Given the description of an element on the screen output the (x, y) to click on. 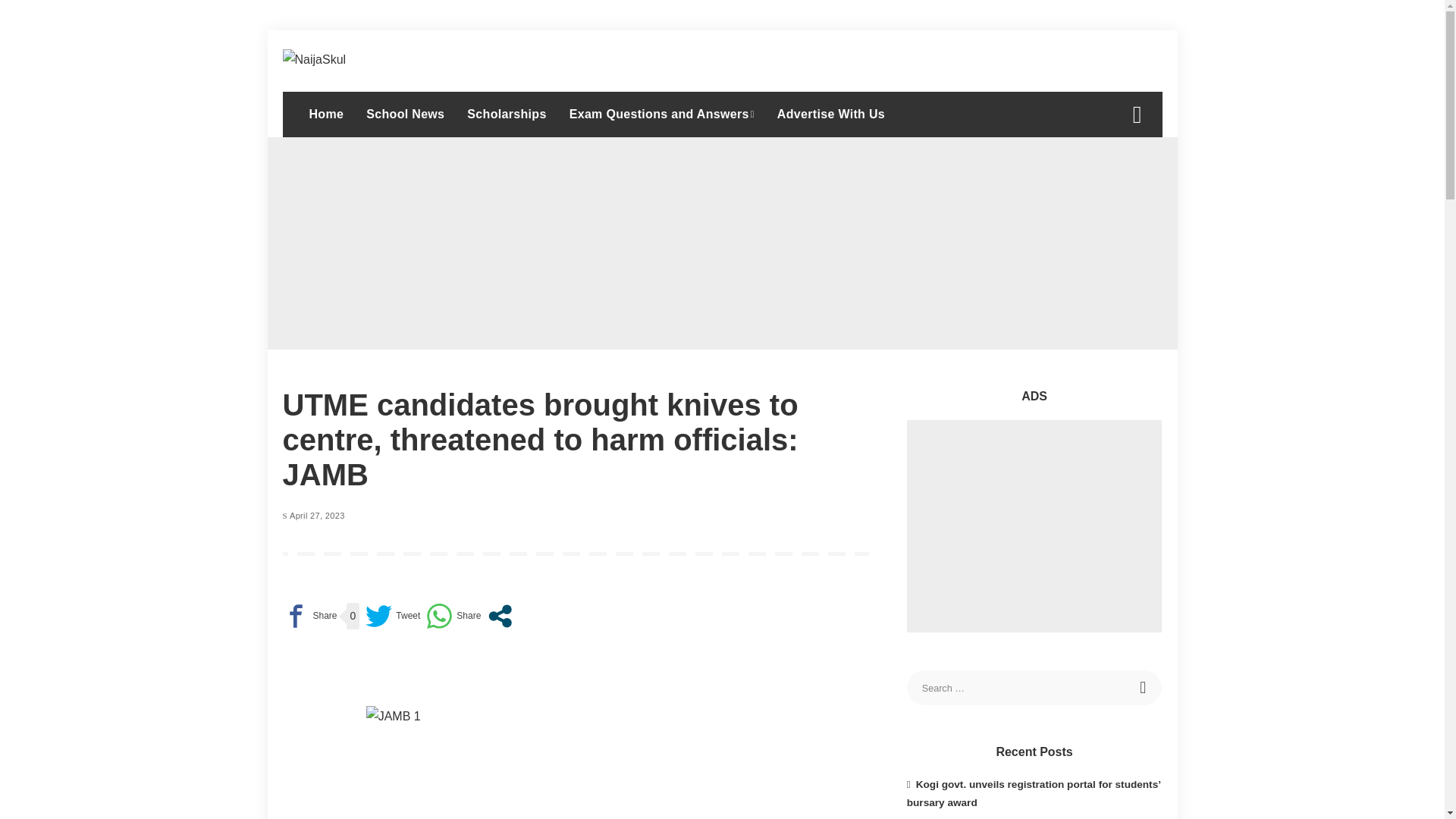
School News (405, 114)
Share on WhatsApp (453, 615)
Share on Facebook (309, 615)
Search (1125, 165)
Search (1143, 687)
Open modal social networks (499, 615)
Search (1143, 687)
Home (326, 114)
Exam Questions and Answers (661, 114)
Advertise With Us (830, 114)
Search (1140, 27)
Scholarships (506, 114)
Tweet (392, 615)
NaijaSkul (314, 60)
